Given the description of an element on the screen output the (x, y) to click on. 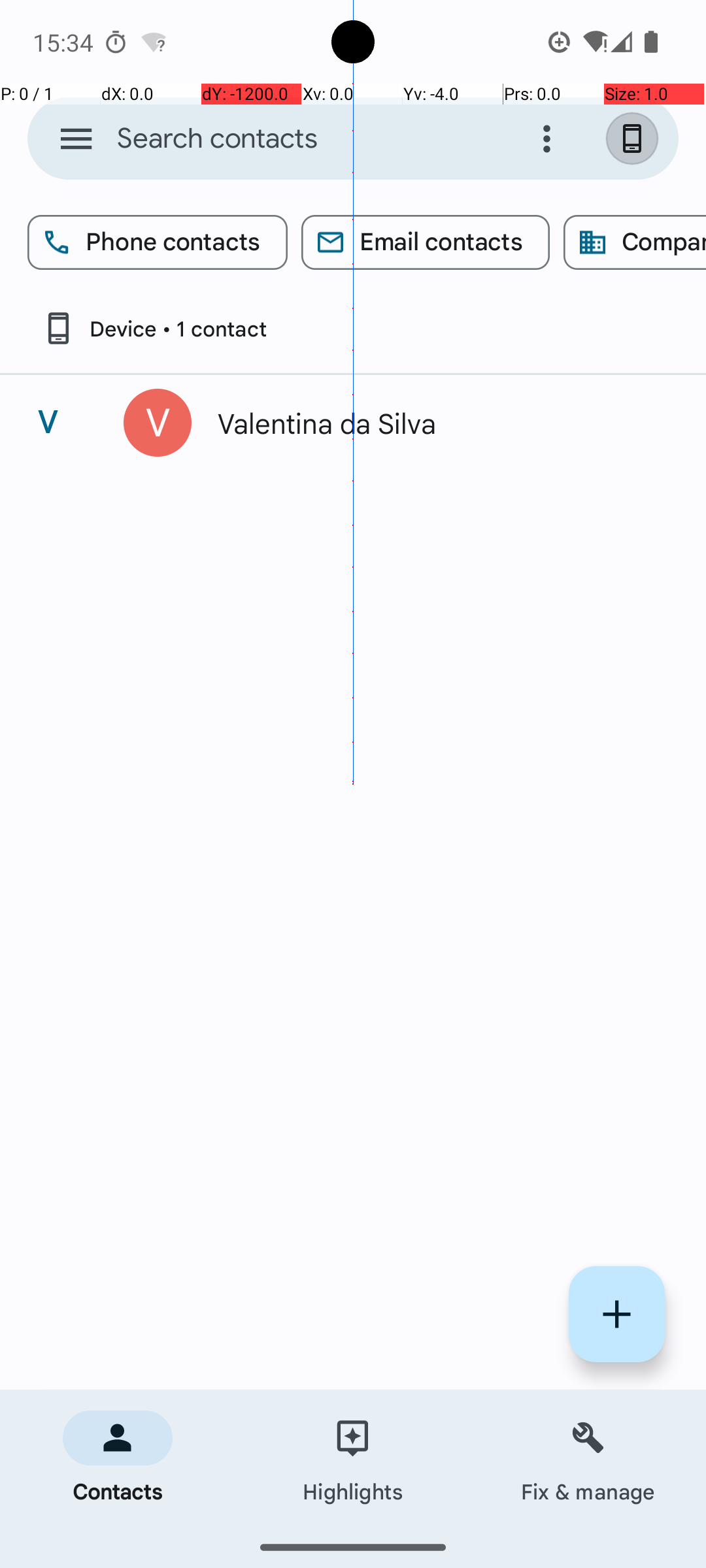
Device • 1 contact Element type: android.widget.TextView (153, 328)
Valentina da Silva Element type: android.widget.TextView (434, 422)
